Given the description of an element on the screen output the (x, y) to click on. 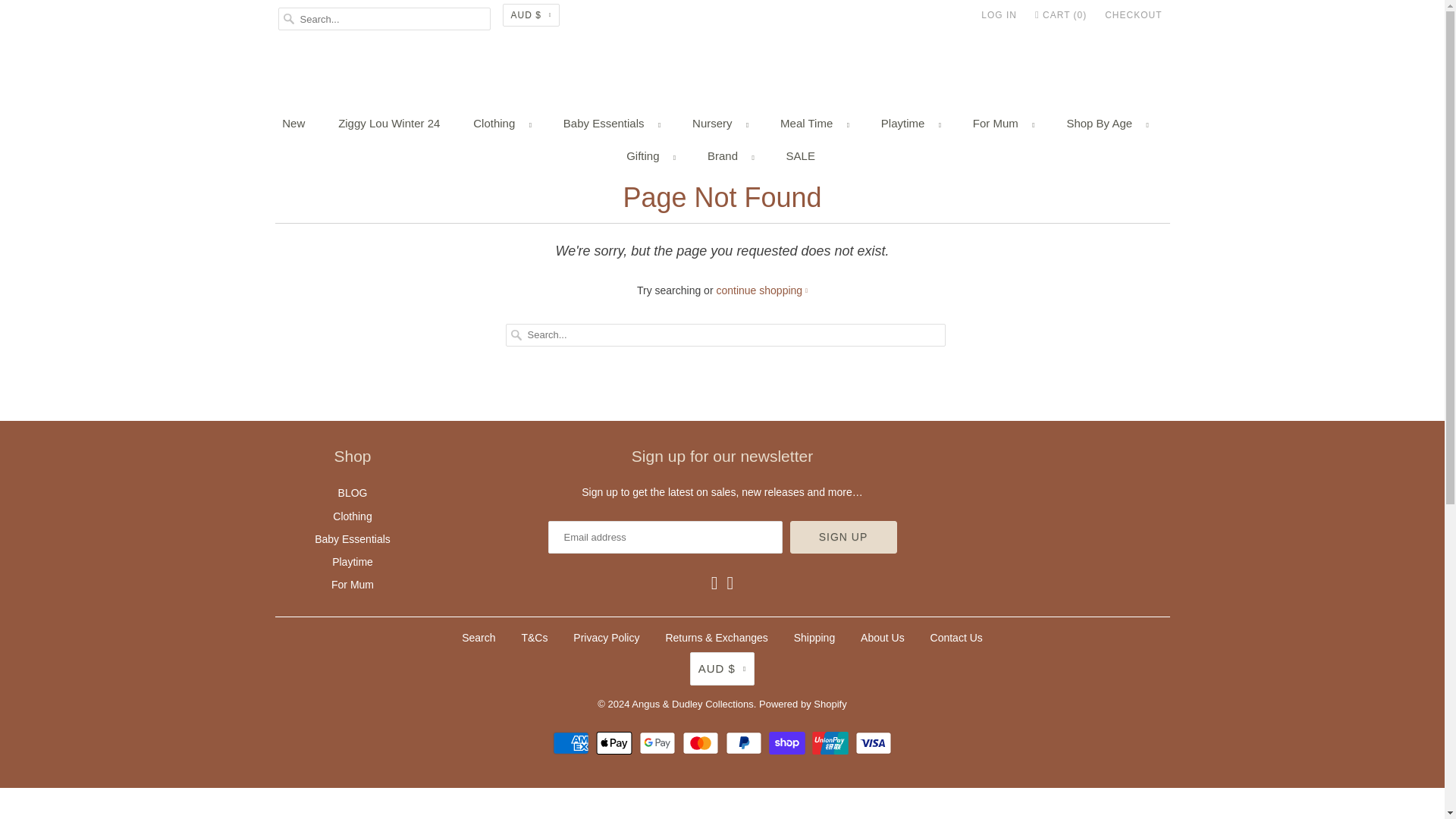
Google Pay (659, 743)
Union Pay (831, 743)
Shop Pay (788, 743)
LOG IN (998, 15)
Visa (873, 743)
Mastercard (702, 743)
Apple Pay (615, 743)
PayPal (745, 743)
CHECKOUT (1133, 15)
Clothing  (501, 122)
American Express (572, 743)
Sign Up (843, 536)
Ziggy Lou Winter 24 (388, 122)
New (293, 122)
